Given the description of an element on the screen output the (x, y) to click on. 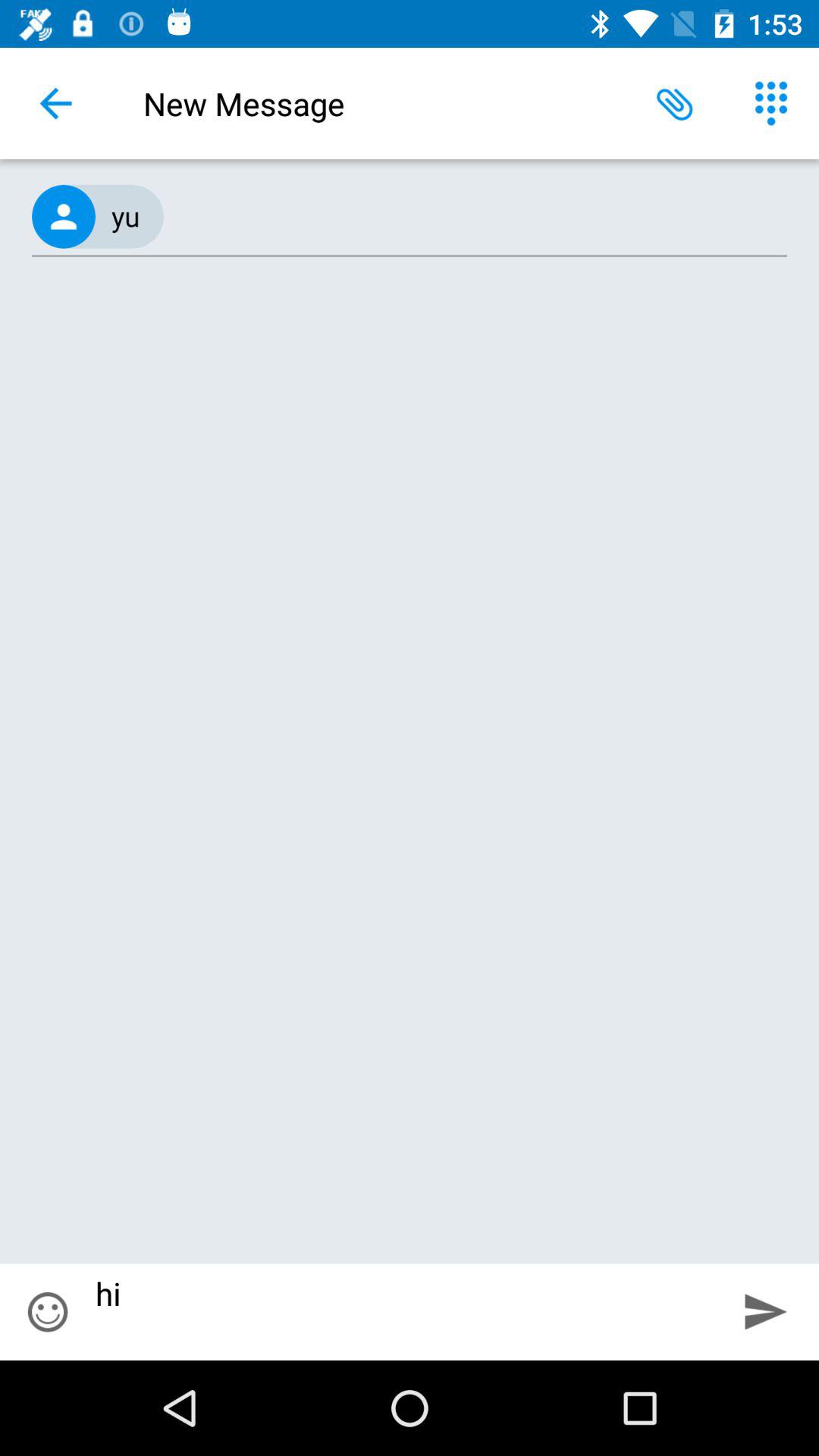
launch item above the (667) 676-5778,  icon (771, 103)
